Given the description of an element on the screen output the (x, y) to click on. 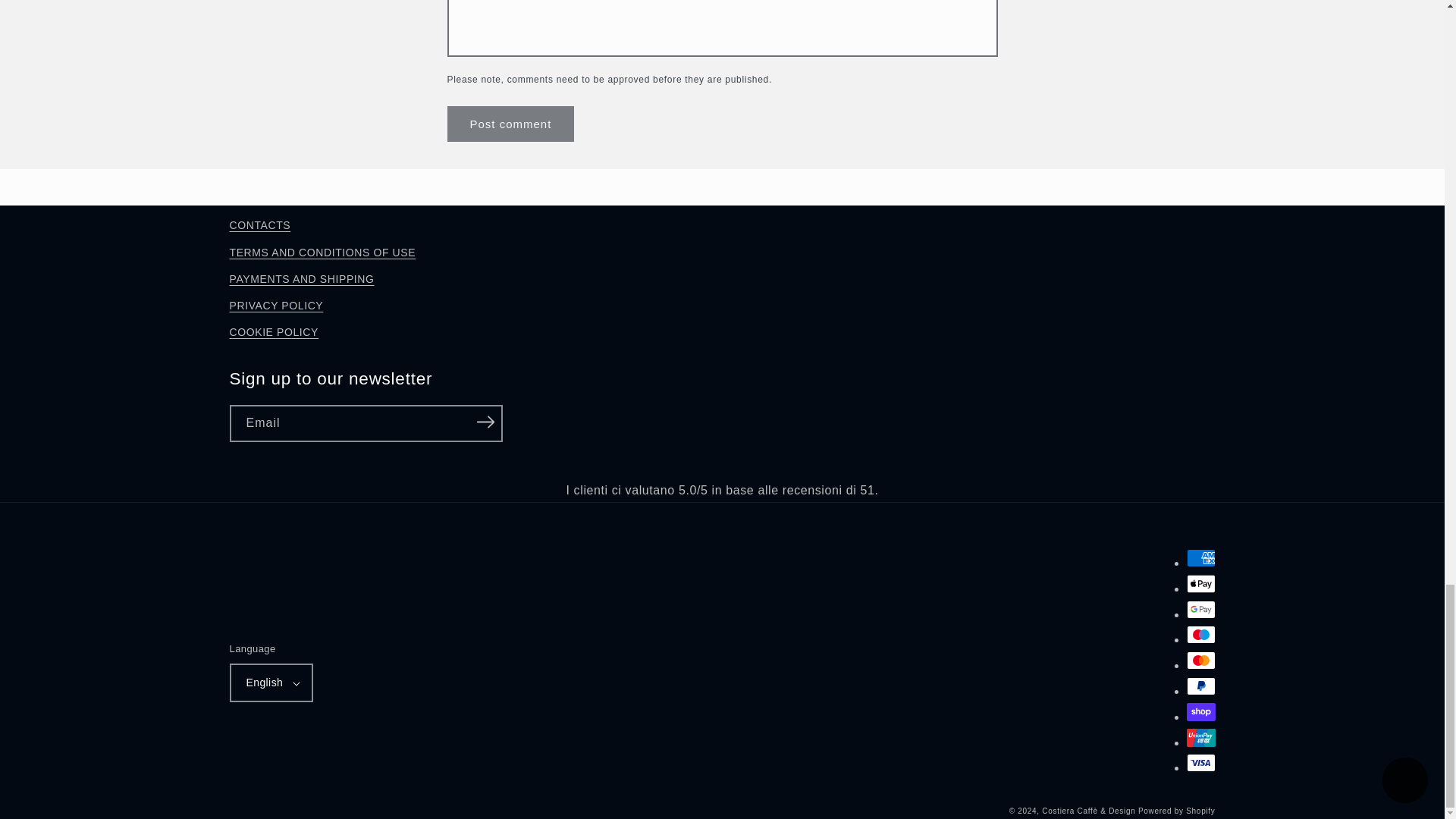
COOKIE POLICY (273, 332)
American Express (1200, 557)
PRIVACY POLICY (275, 305)
Post comment (510, 123)
Union Pay (1200, 737)
Maestro (1200, 634)
TERMS AND CONDITIONS OF USE (321, 252)
Visa (1200, 762)
Post comment (510, 123)
Shop Pay (1200, 711)
